Given the description of an element on the screen output the (x, y) to click on. 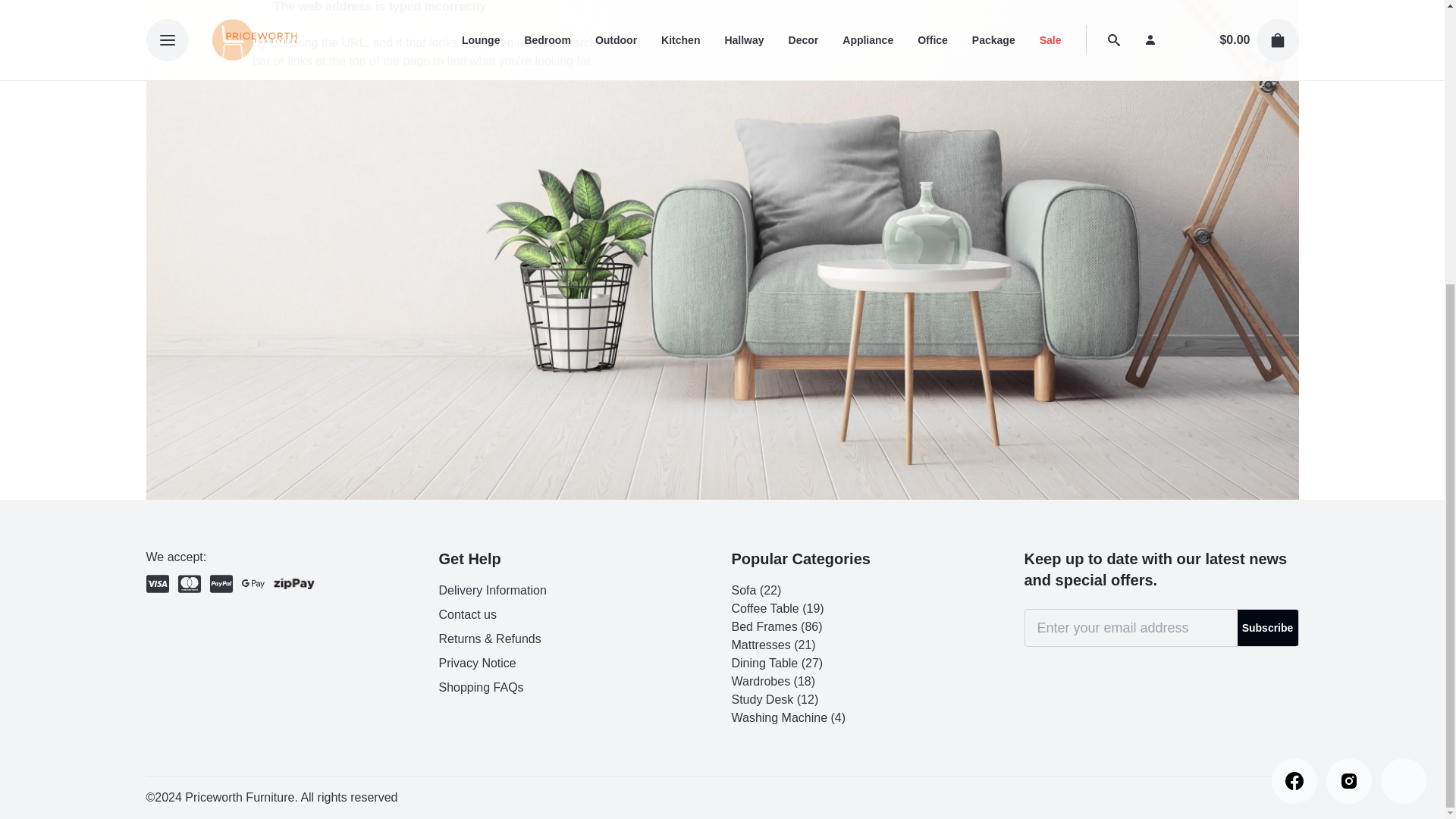
Delivery Information (492, 590)
Subscribe (1267, 627)
Shopping FAQs (480, 686)
Contact us (467, 614)
Privacy Notice (476, 662)
